Given the description of an element on the screen output the (x, y) to click on. 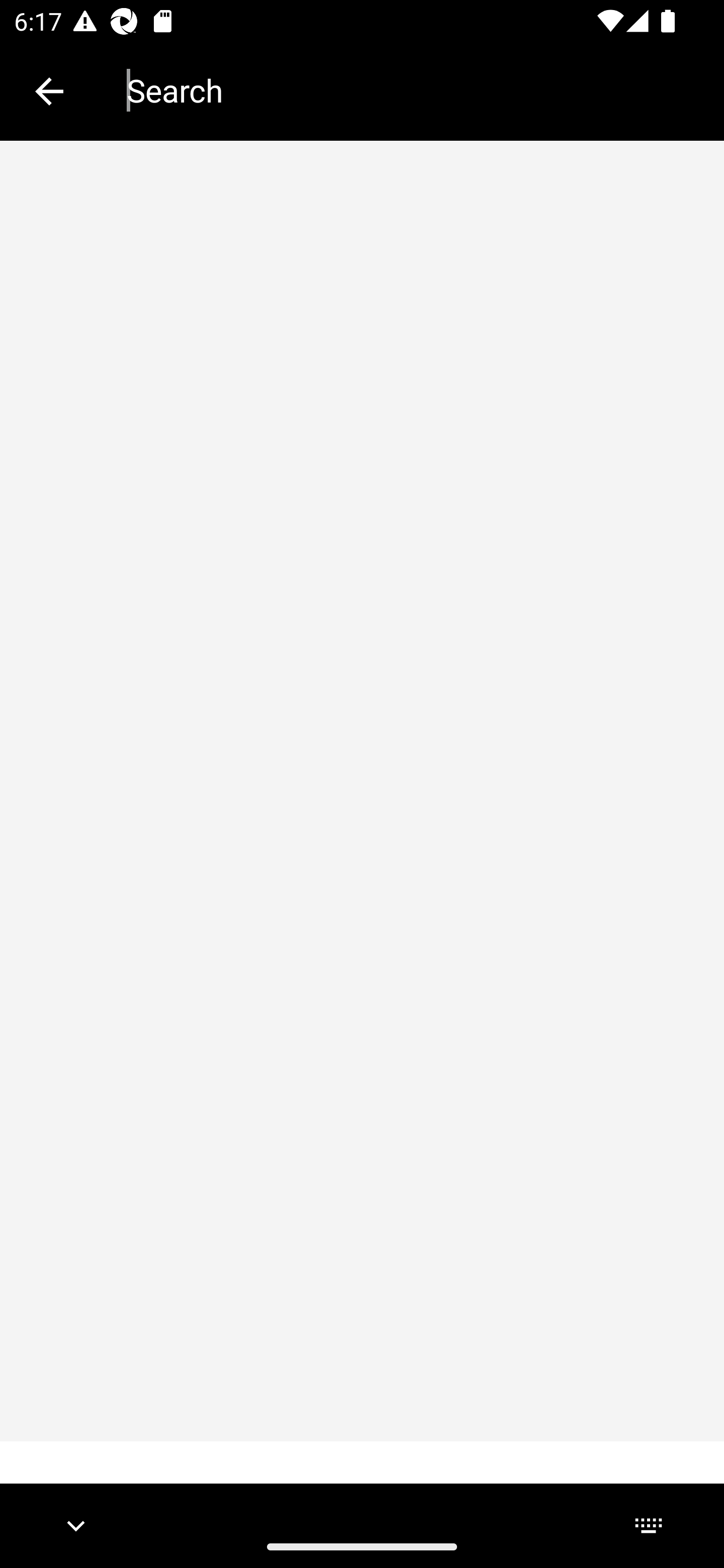
Collapse (49, 91)
Search (411, 90)
